Given the description of an element on the screen output the (x, y) to click on. 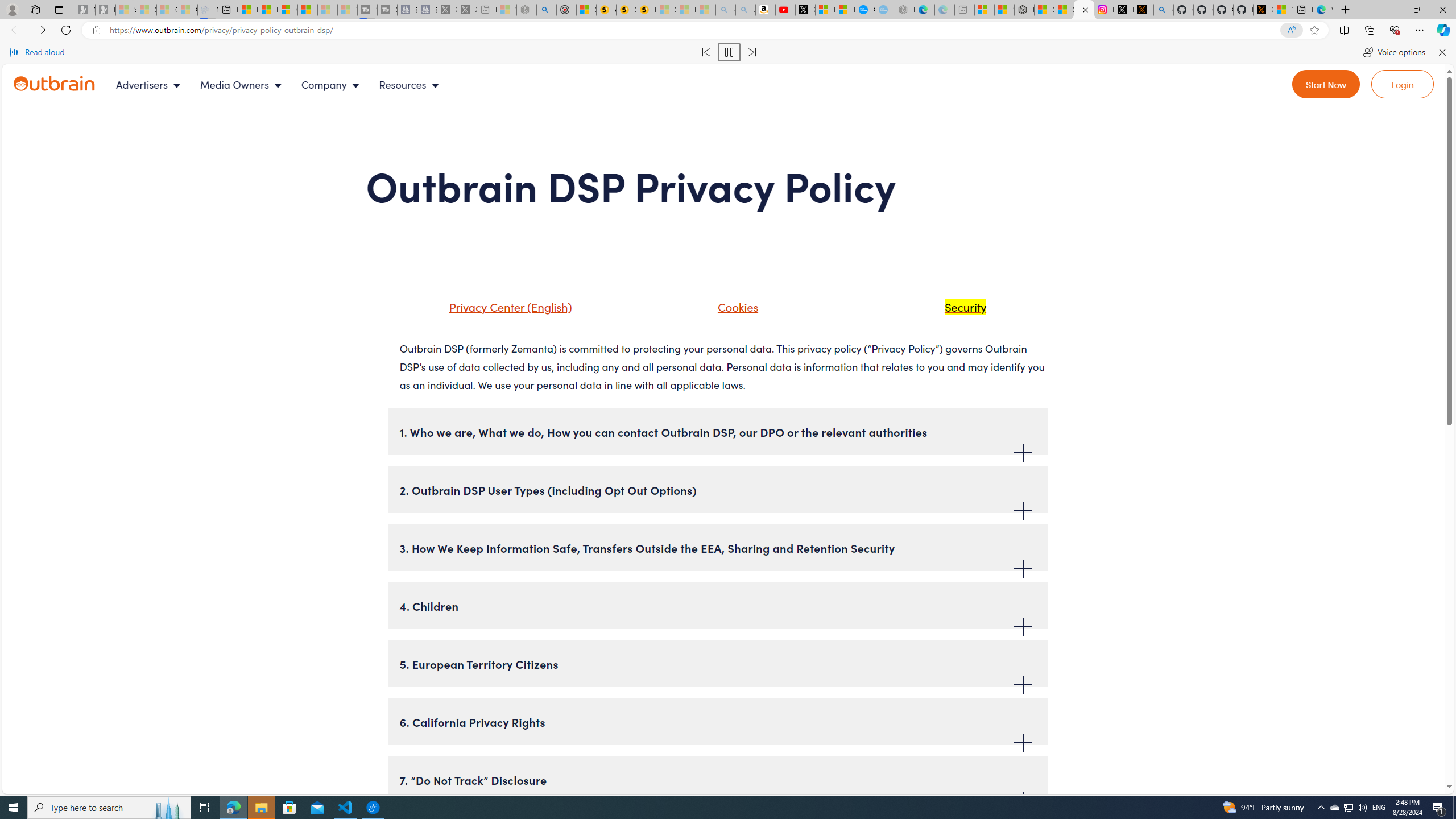
Voice options (1393, 52)
Read previous paragraph (705, 52)
Security (963, 305)
Streaming Coverage | T3 - Sleeping (366, 9)
Go to login (1402, 83)
Nordace - Duffels (1024, 9)
Main Navigation (287, 84)
X Privacy Policy (1262, 9)
Welcome to Microsoft Edge (1322, 9)
Amazon Echo Dot PNG - Search Images - Sleeping (745, 9)
The most popular Google 'how to' searches - Sleeping (884, 9)
Media Owners (242, 84)
